Given the description of an element on the screen output the (x, y) to click on. 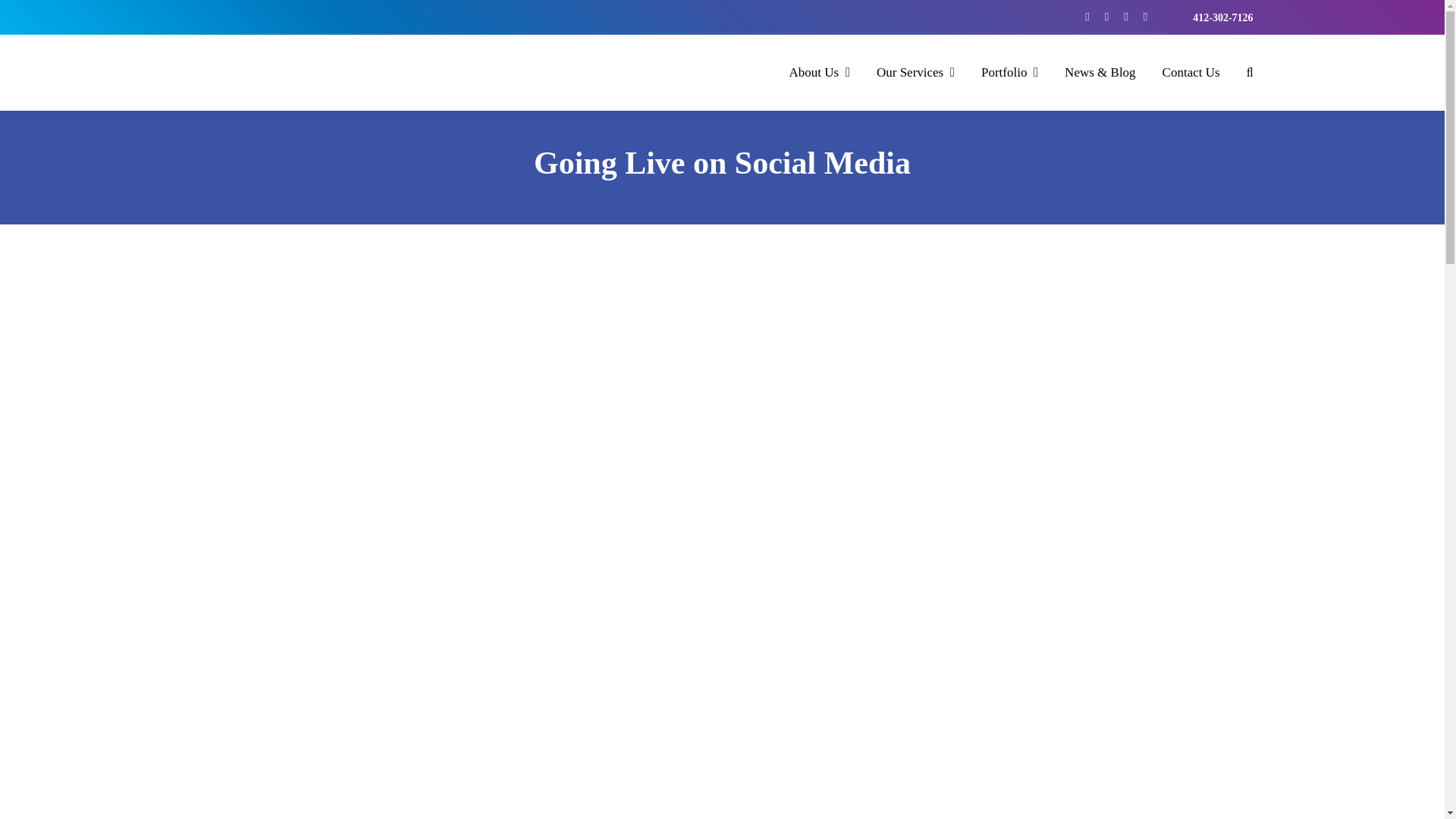
Portfolio (1009, 72)
About Us (819, 72)
Our Services (915, 72)
412-302-7126 (1222, 17)
Contact Us (1190, 72)
